Given the description of an element on the screen output the (x, y) to click on. 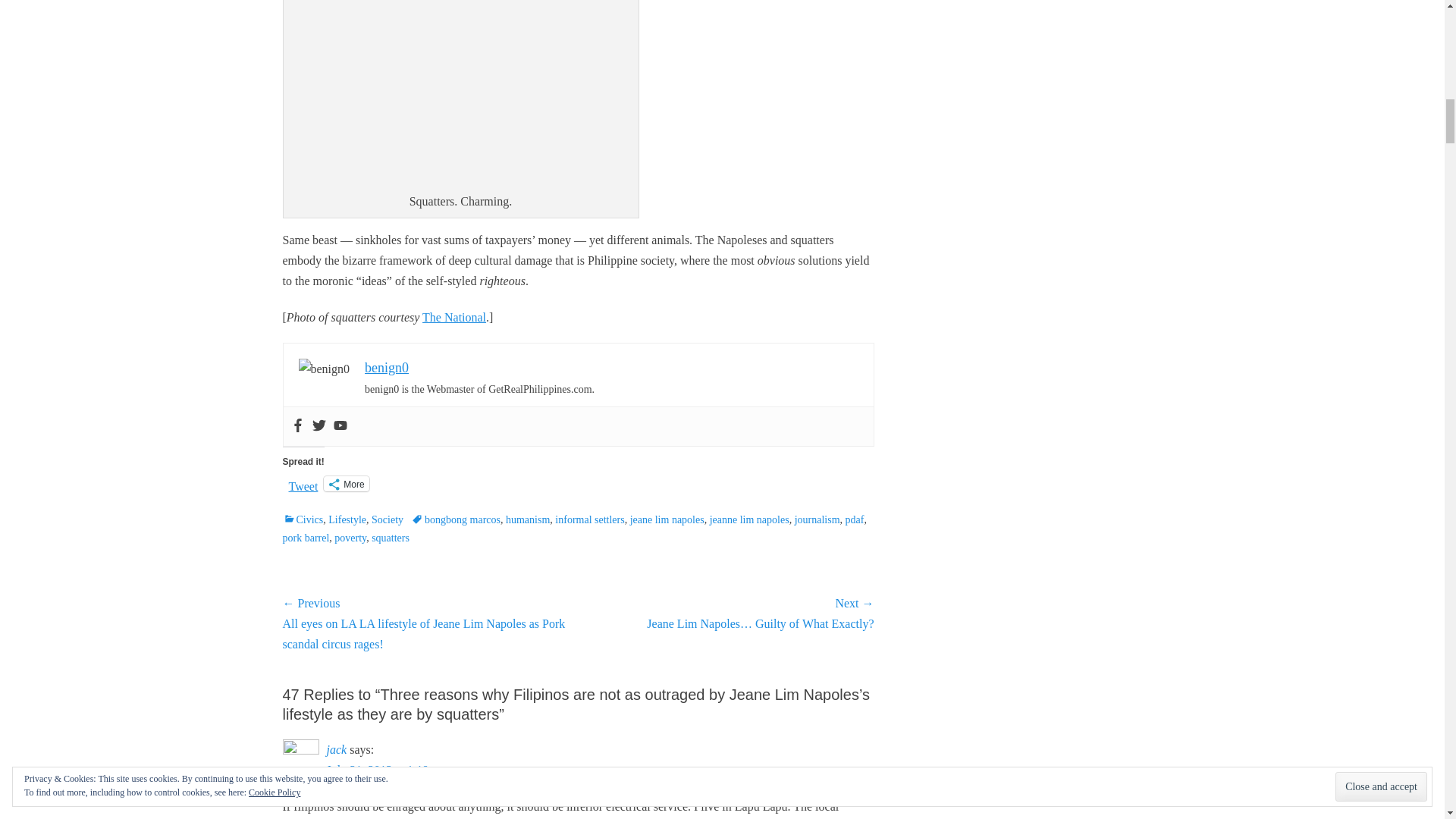
benign0 (387, 367)
humanism (527, 519)
jeane lim napoles (667, 519)
informal settlers (589, 519)
Tweet (302, 482)
More (345, 483)
The National (454, 317)
Society (387, 519)
Lifestyle (347, 519)
Civics (302, 519)
